Given the description of an element on the screen output the (x, y) to click on. 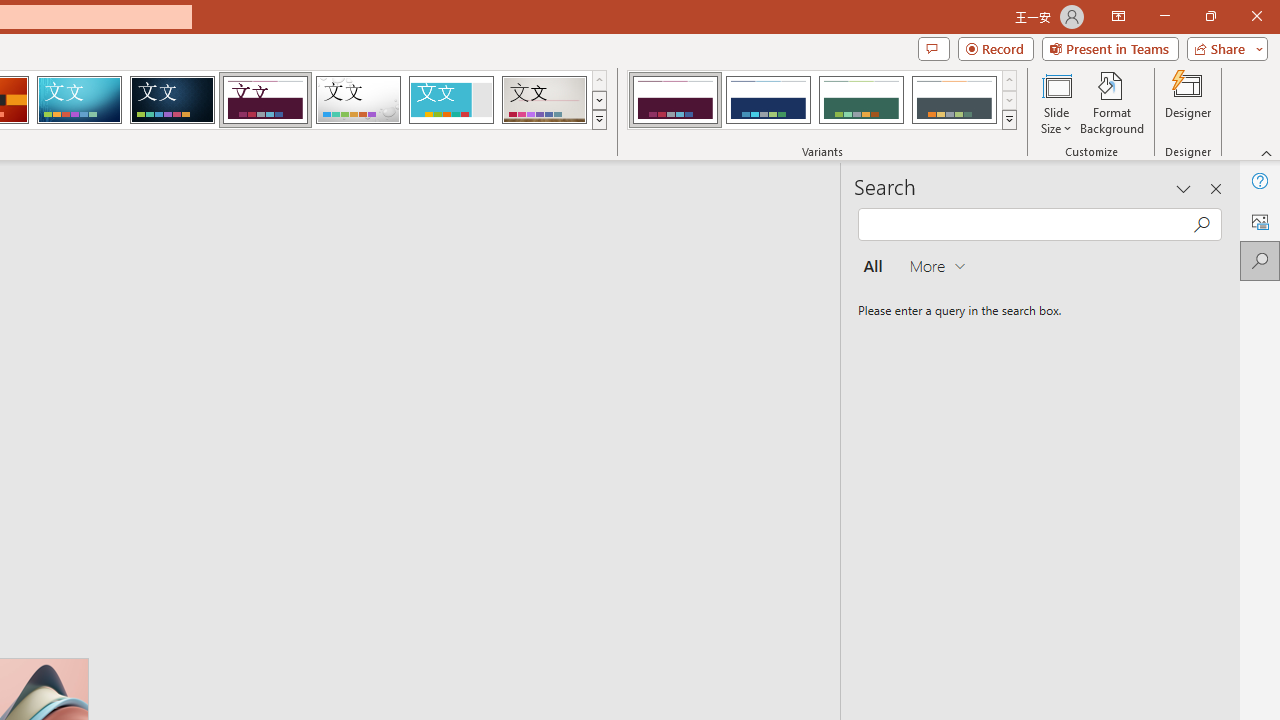
Dividend Variant 2 (768, 100)
AutomationID: ThemeVariantsGallery (822, 99)
Frame (450, 100)
Circuit (79, 100)
